Given the description of an element on the screen output the (x, y) to click on. 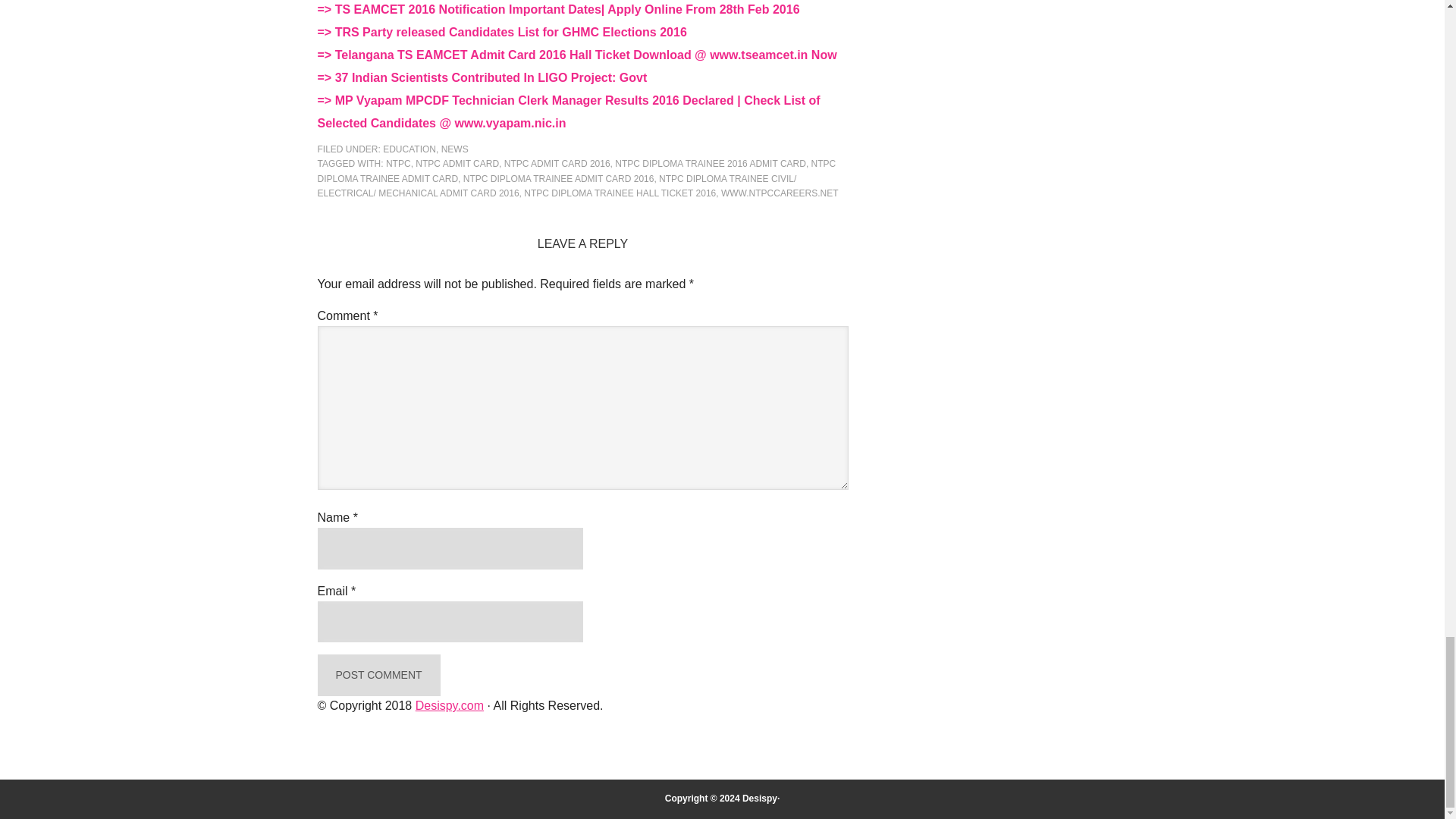
TRS Party released Candidates List for GHMC Elections 2016 (510, 31)
NTPC DIPLOMA TRAINEE HALL TICKET 2016 (620, 193)
Post Comment (378, 675)
NTPC ADMIT CARD 2016 (556, 163)
37 Indian Scientists Contributed In LIGO Project: Govt (490, 77)
WWW.NTPCCAREERS.NET (779, 193)
NTPC DIPLOMA TRAINEE ADMIT CARD (576, 171)
NTPC ADMIT CARD (456, 163)
